Given the description of an element on the screen output the (x, y) to click on. 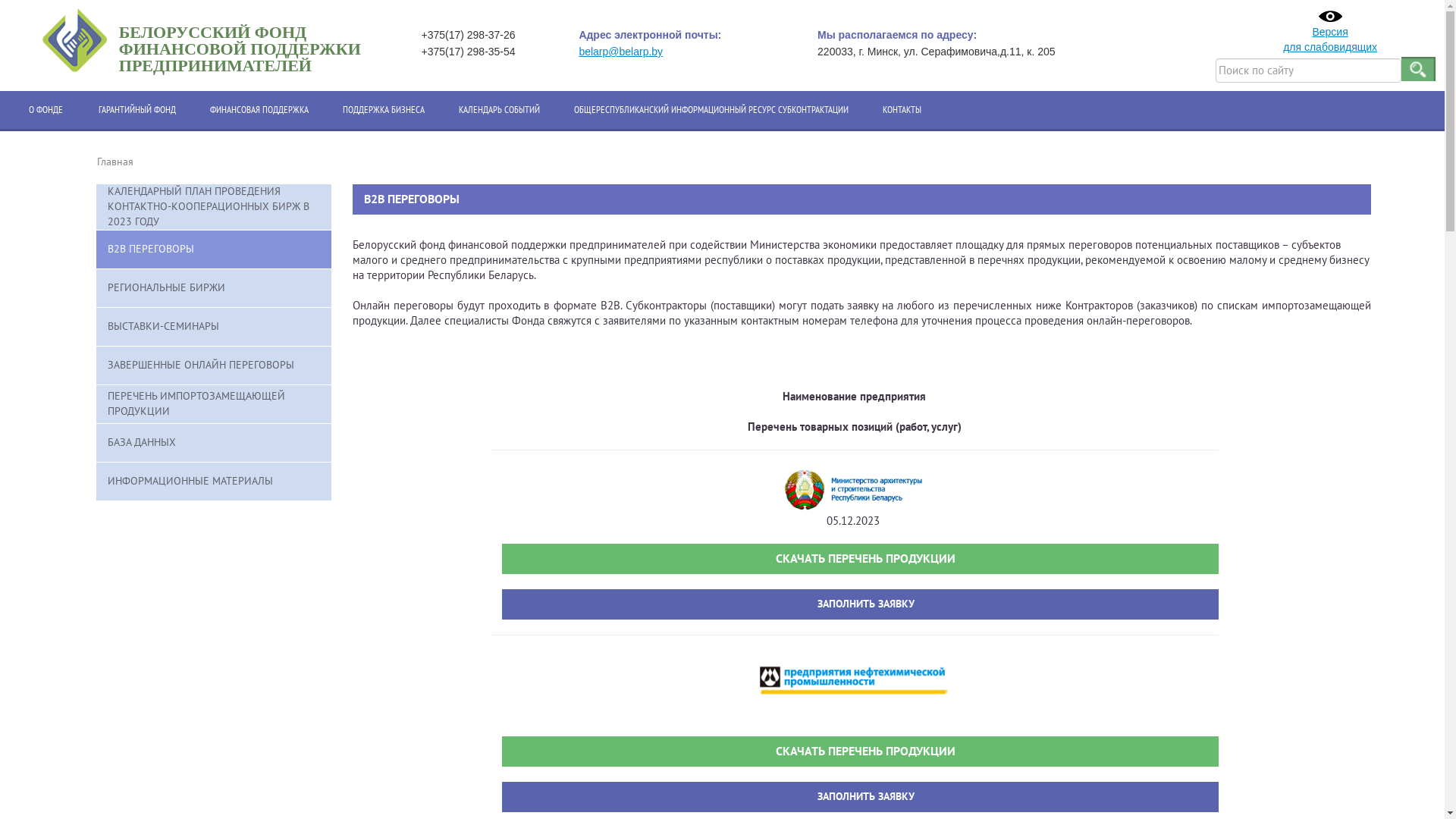
belarp@belarp.by Element type: text (620, 51)
